Given the description of an element on the screen output the (x, y) to click on. 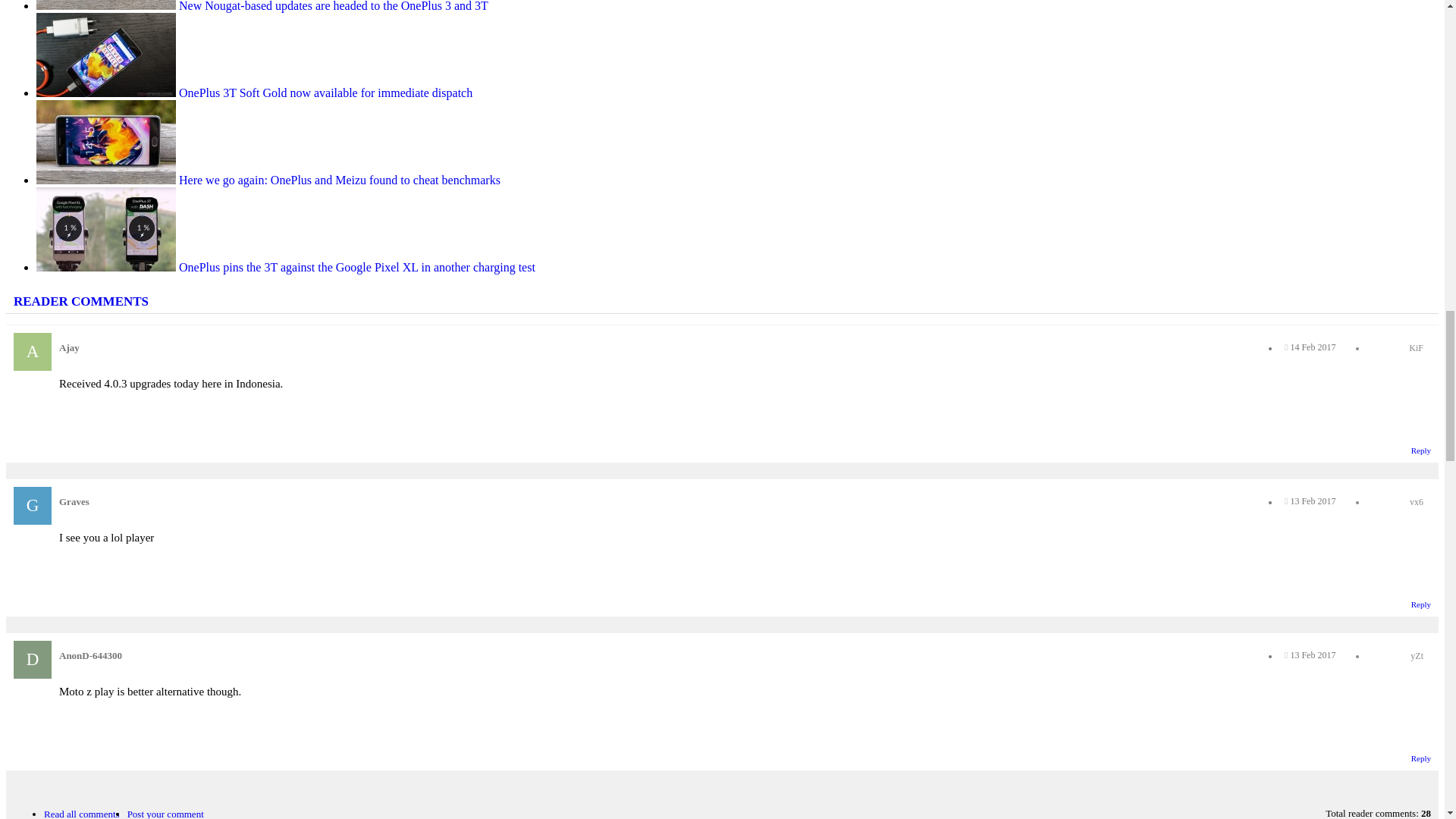
Encoded anonymized location (1416, 655)
Reply to this post (1420, 604)
Encoded anonymized location (1416, 501)
Reply to this post (1420, 757)
New Nougat-based updates are headed to the OnePlus 3 and 3T (261, 5)
Reply to this post (1420, 450)
Encoded anonymized location (1416, 347)
